Given the description of an element on the screen output the (x, y) to click on. 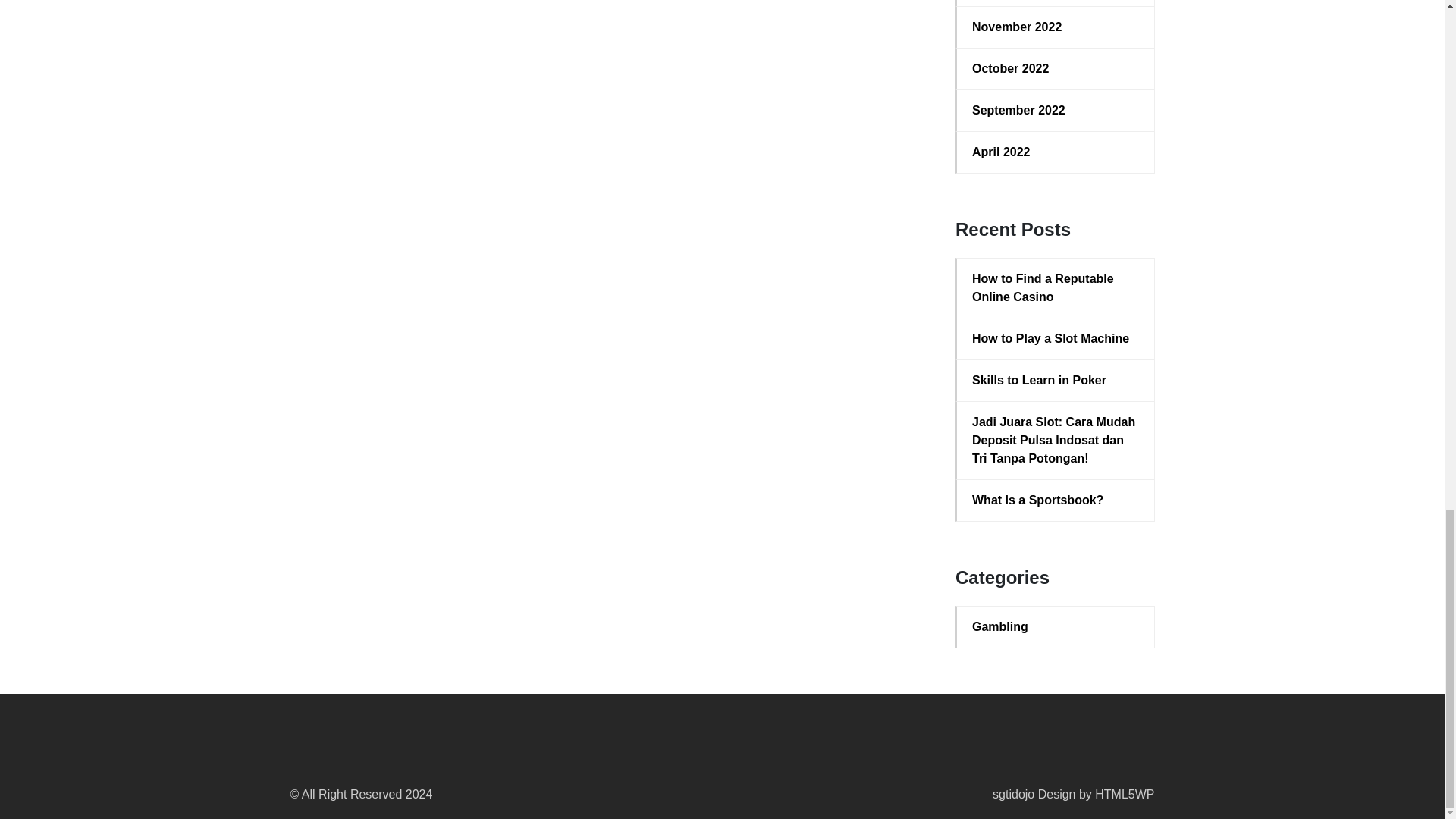
How to Find a Reputable Online Casino (1055, 288)
April 2022 (1055, 152)
What Is a Sportsbook? (1055, 500)
Skills to Learn in Poker (1055, 380)
How to Play a Slot Machine (1055, 339)
November 2022 (1055, 27)
September 2022 (1055, 110)
October 2022 (1055, 68)
Gambling (1055, 627)
